Given the description of an element on the screen output the (x, y) to click on. 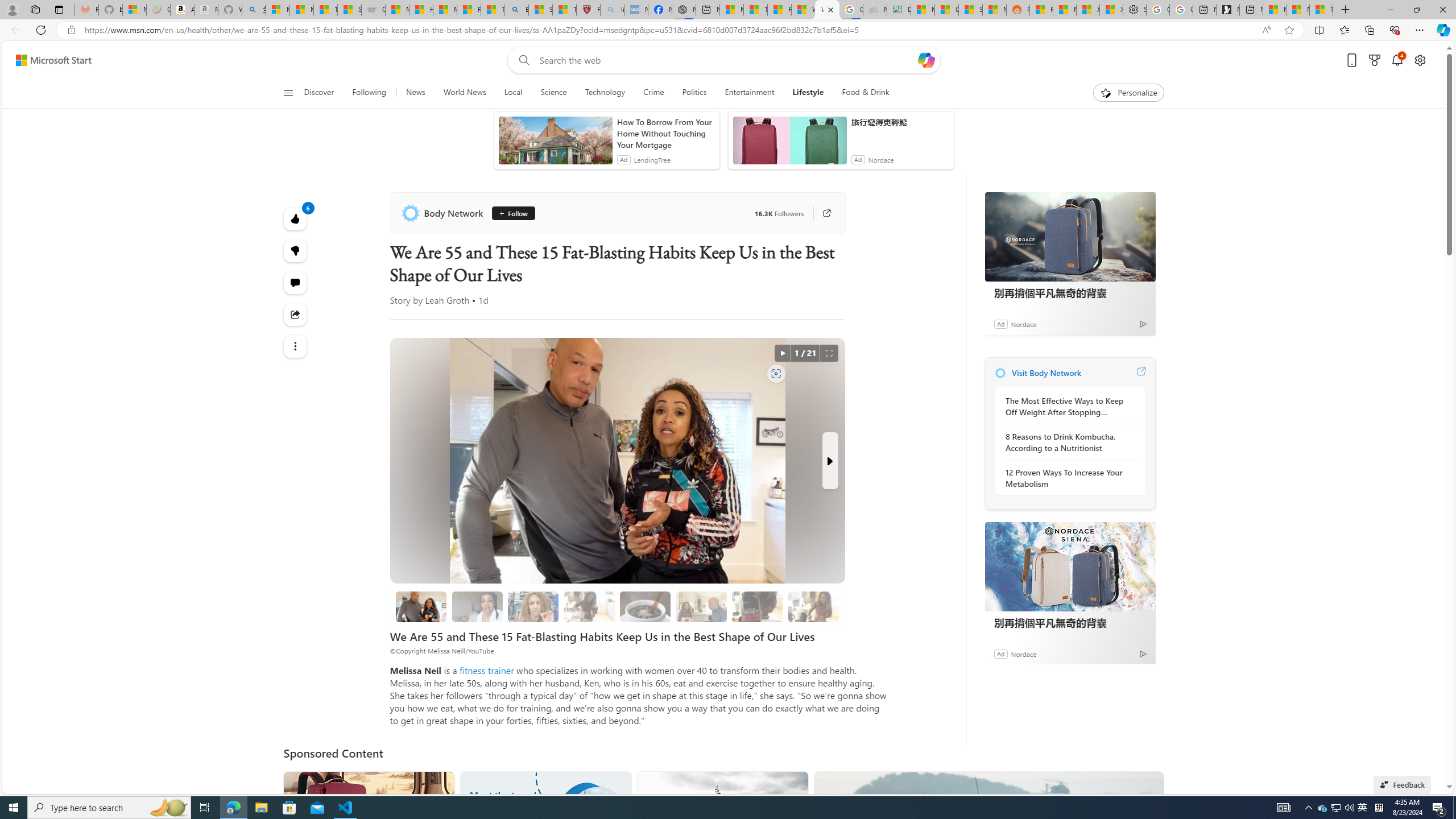
5 She Eats Less Than Her Husband (700, 606)
Full screen (828, 352)
Body Network (1000, 372)
6 (295, 250)
Enter your search term (726, 59)
8 Be Mindful of Coffee (645, 606)
